Given the description of an element on the screen output the (x, y) to click on. 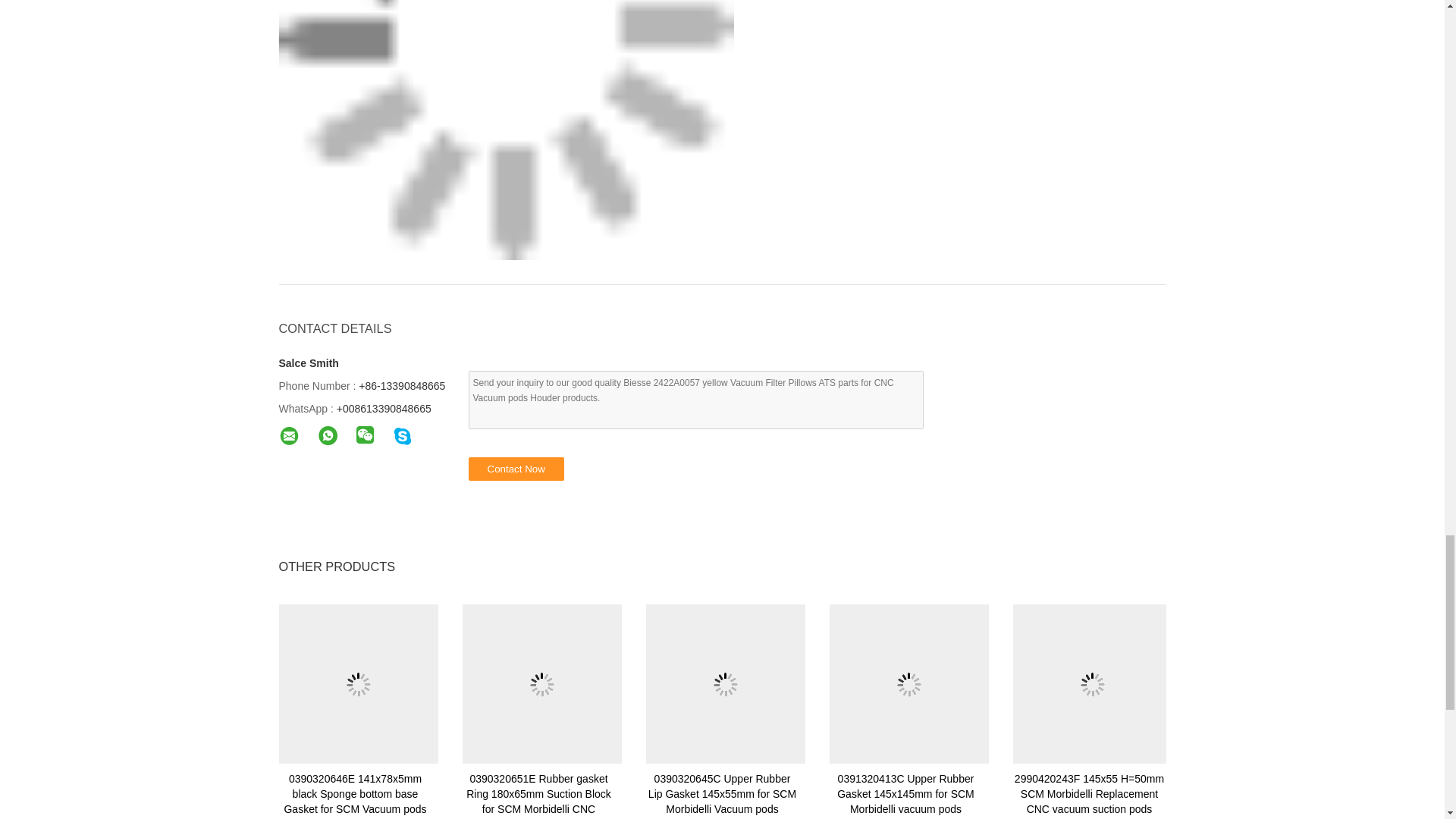
Contact Now (516, 468)
